Given the description of an element on the screen output the (x, y) to click on. 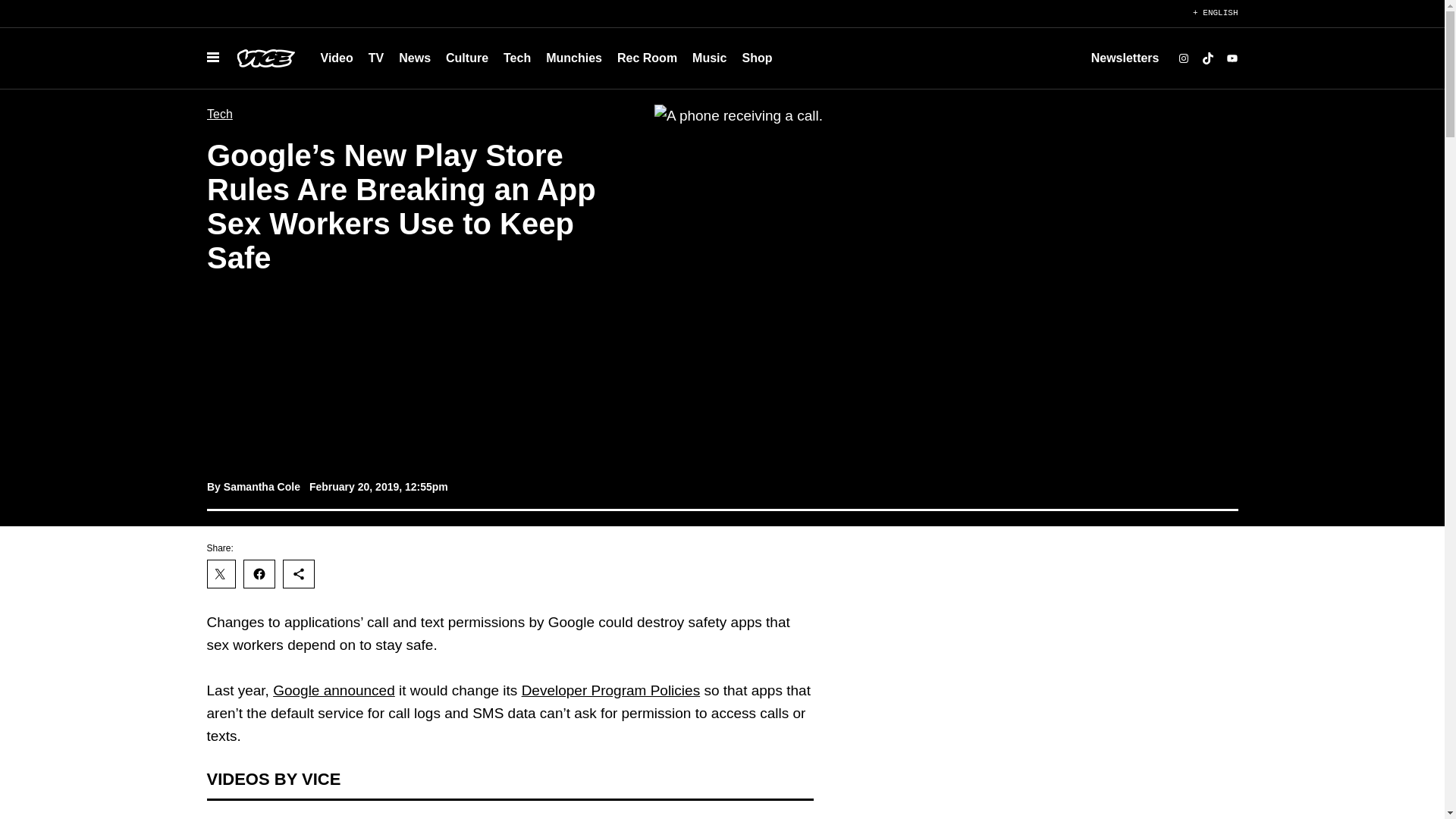
Video (336, 58)
News (414, 58)
Newsletters (1124, 57)
Munchies (574, 58)
Rec Room (647, 58)
Culture (467, 58)
Instagram (1182, 58)
TV (376, 58)
YouTube (1231, 58)
